Given the description of an element on the screen output the (x, y) to click on. 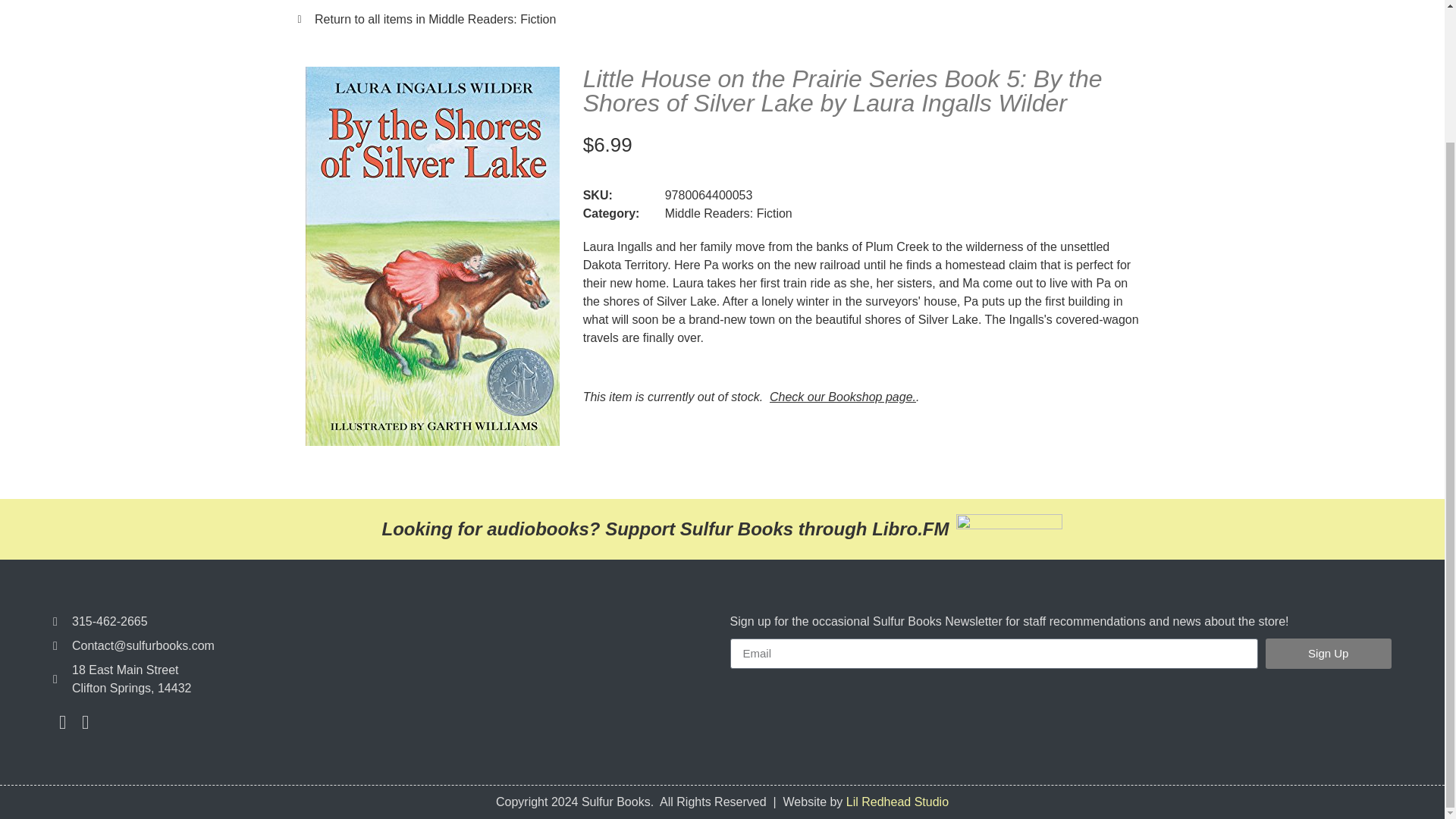
Return to all items in Middle Readers: Fiction (722, 19)
Middle Readers: Fiction (728, 213)
Lil Redhead Studio (897, 801)
Sign Up (1328, 653)
Check our Bookshop page. (842, 396)
